Given the description of an element on the screen output the (x, y) to click on. 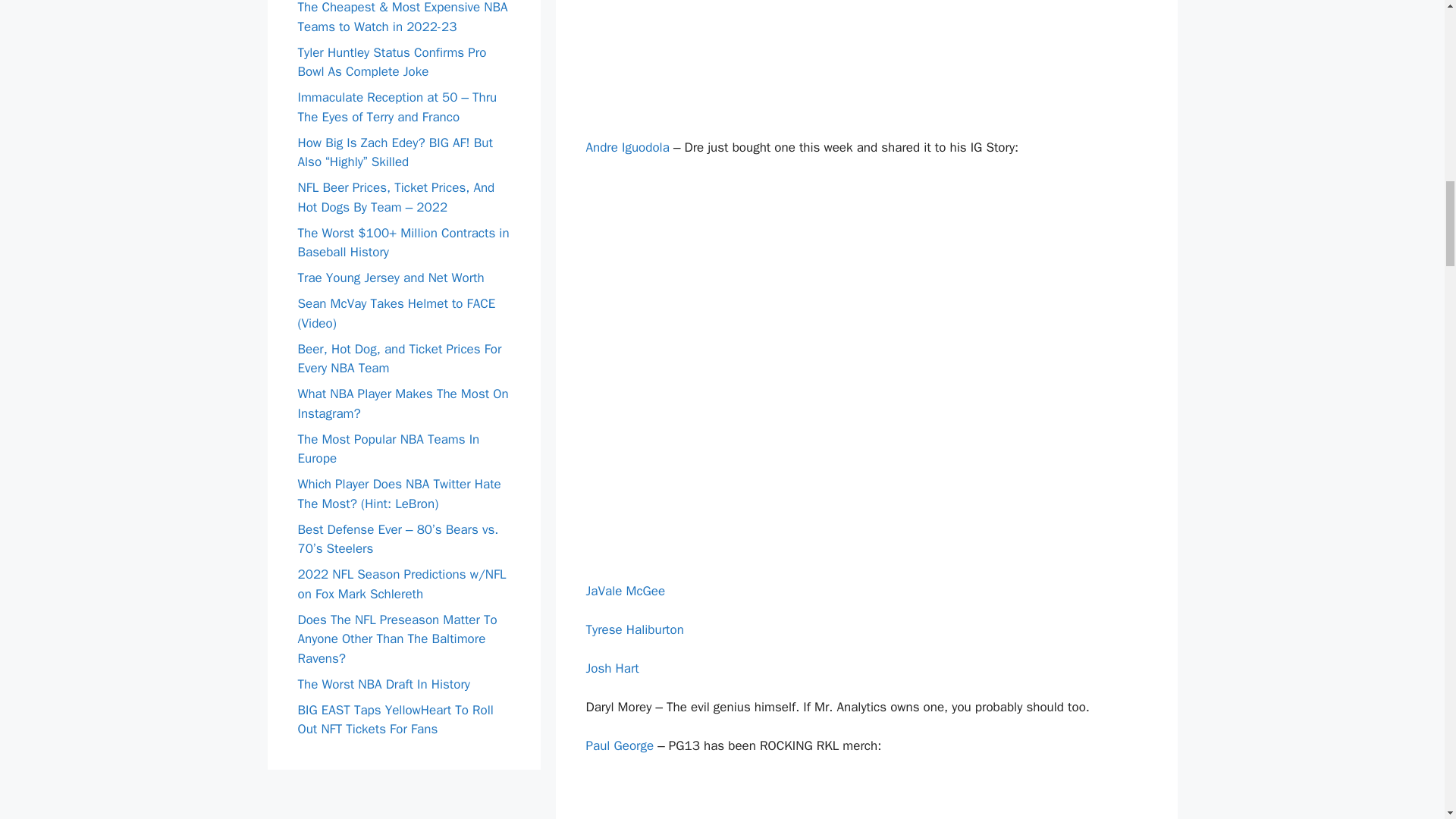
Josh Hart (612, 668)
Andre Iguodola (626, 147)
Paul George (619, 745)
JaVale McGee (625, 590)
Tyrese Haliburton (633, 629)
